Given the description of an element on the screen output the (x, y) to click on. 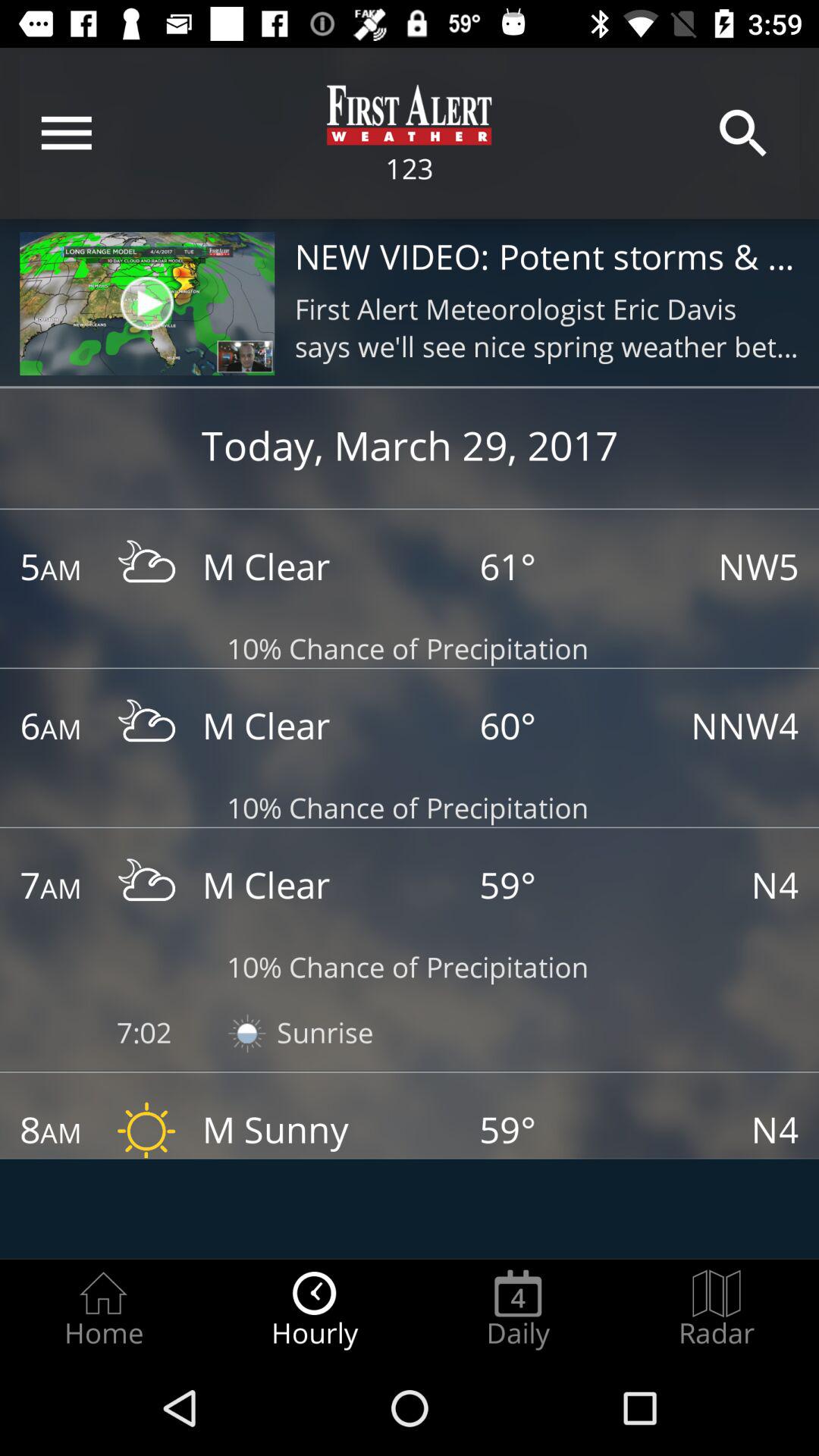
jump to the radar item (716, 1309)
